Given the description of an element on the screen output the (x, y) to click on. 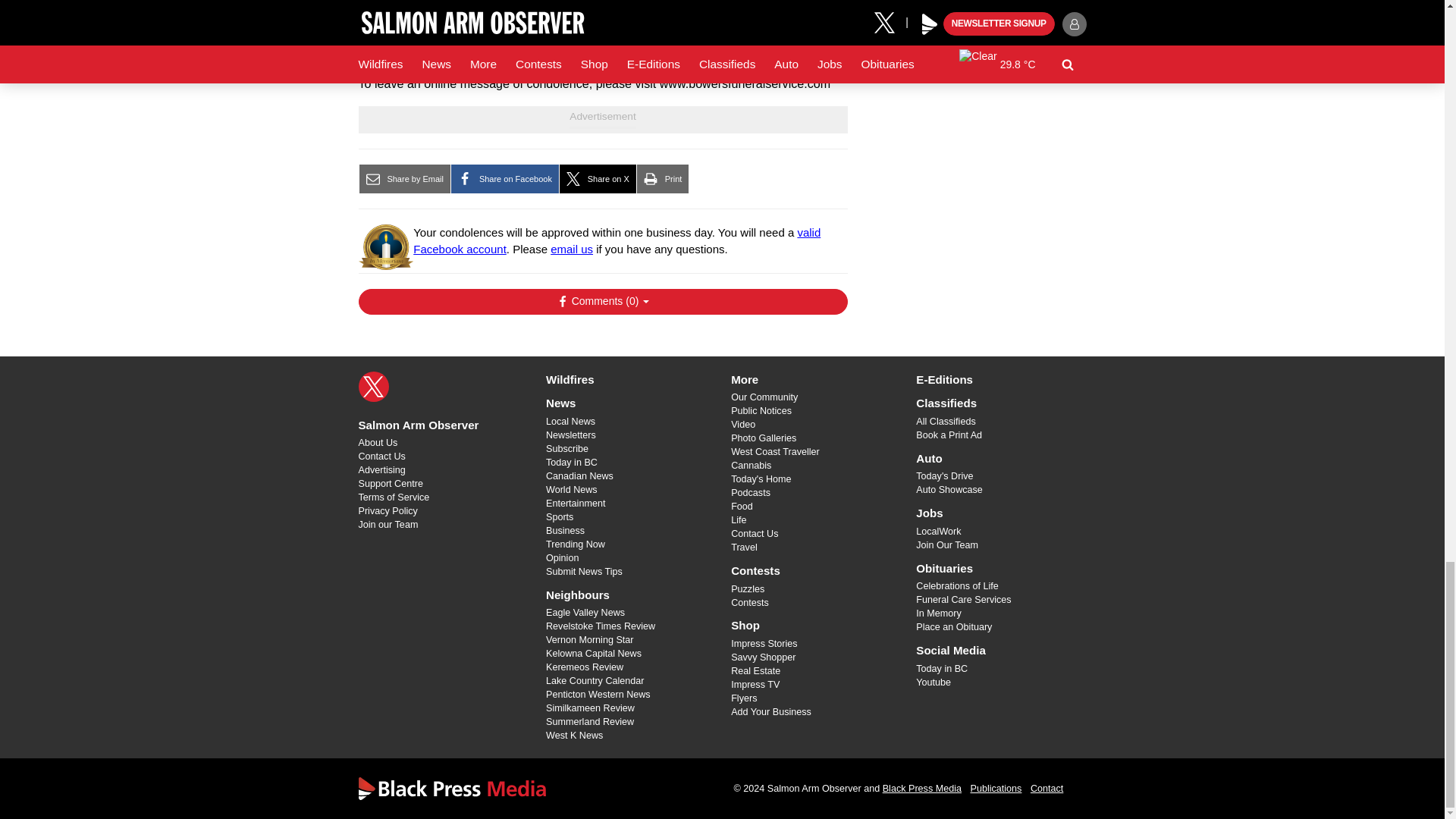
Show Comments (602, 301)
X (373, 386)
